Given the description of an element on the screen output the (x, y) to click on. 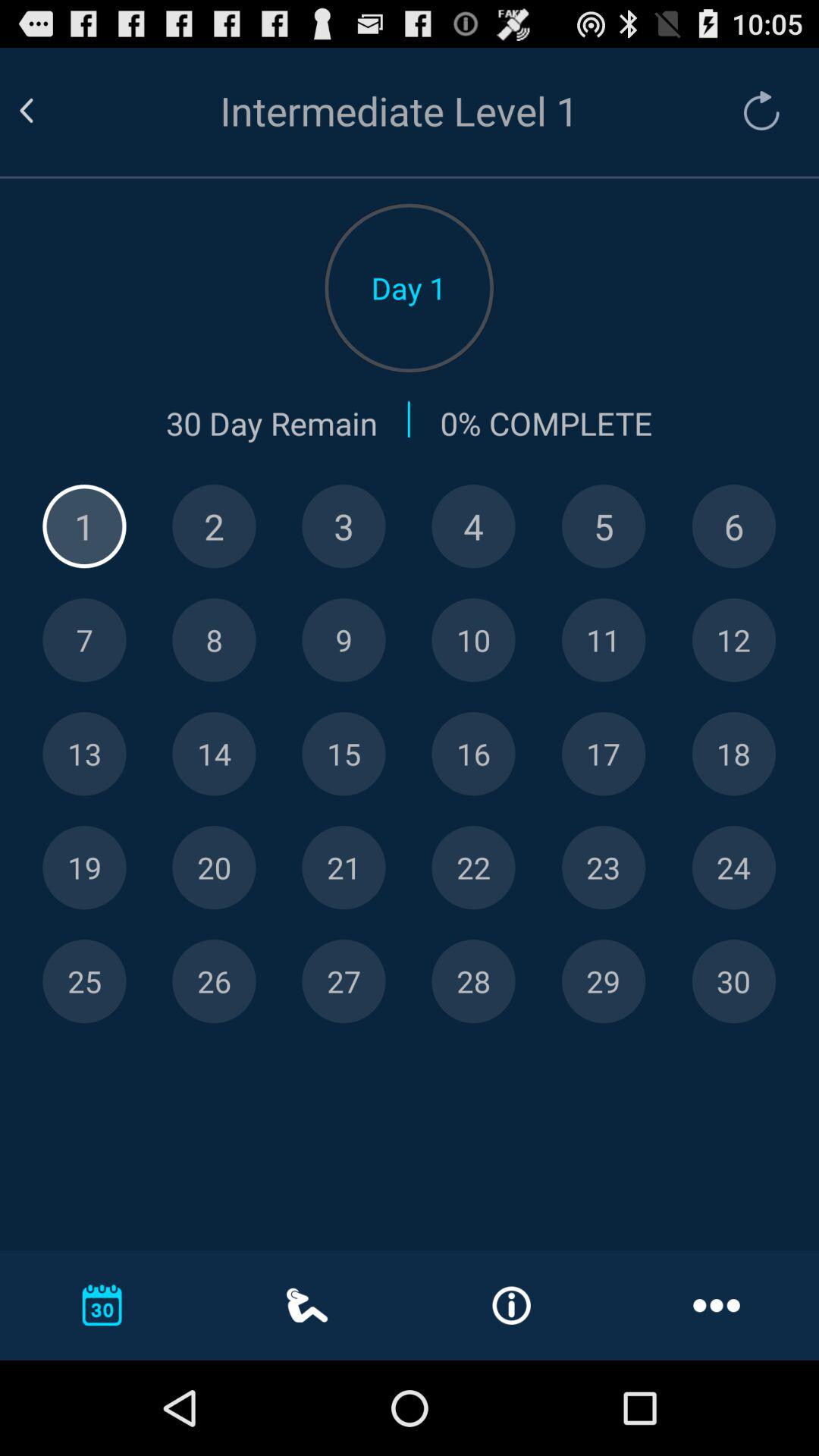
number twenty six (213, 981)
